Given the description of an element on the screen output the (x, y) to click on. 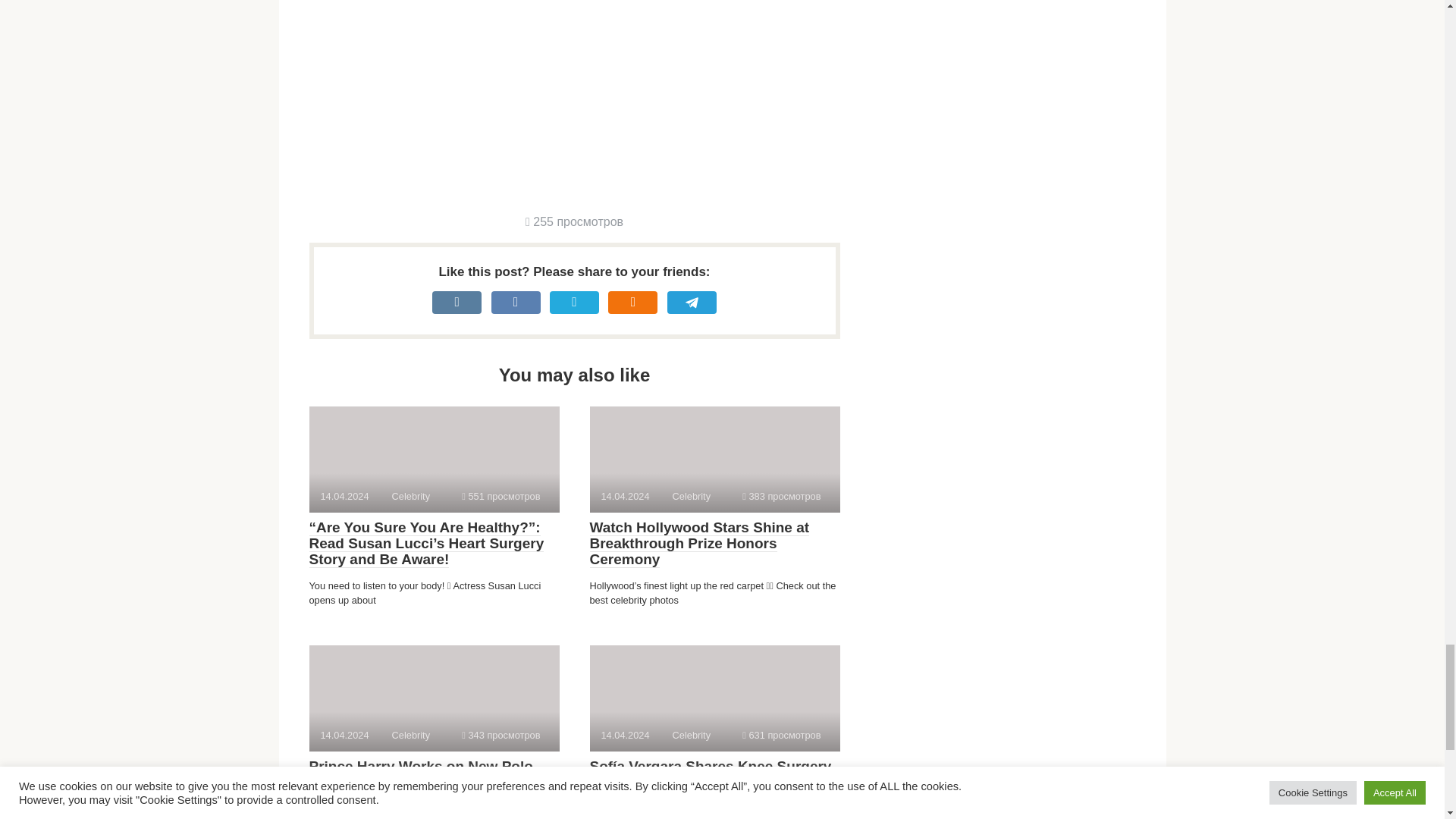
Views (500, 496)
Prince Harry Works on New Polo Series for Netflix (420, 774)
Views (574, 221)
Views (781, 735)
Views (500, 735)
Views (781, 496)
